Given the description of an element on the screen output the (x, y) to click on. 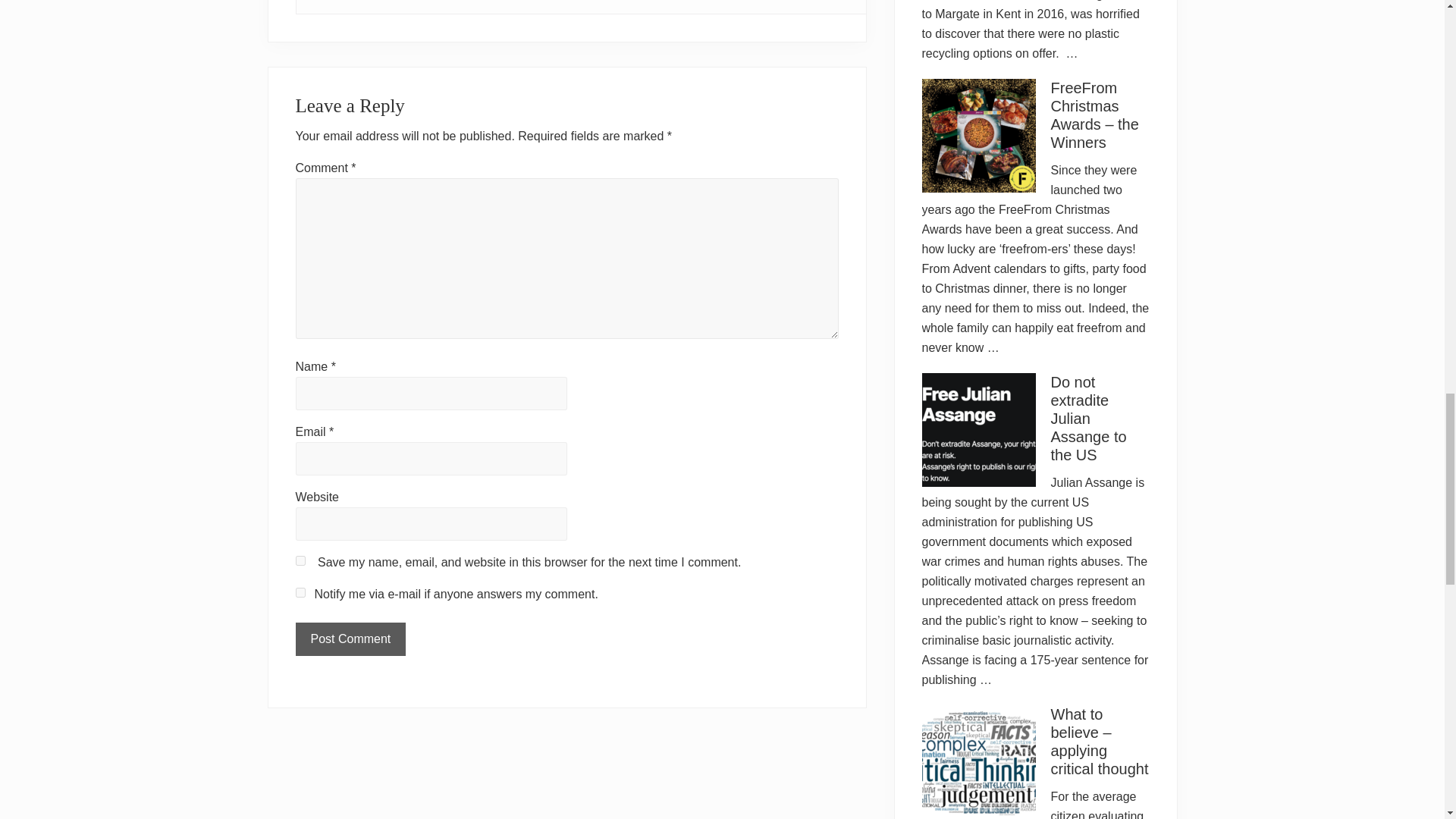
on (300, 592)
Post Comment (350, 639)
yes (300, 560)
